Given the description of an element on the screen output the (x, y) to click on. 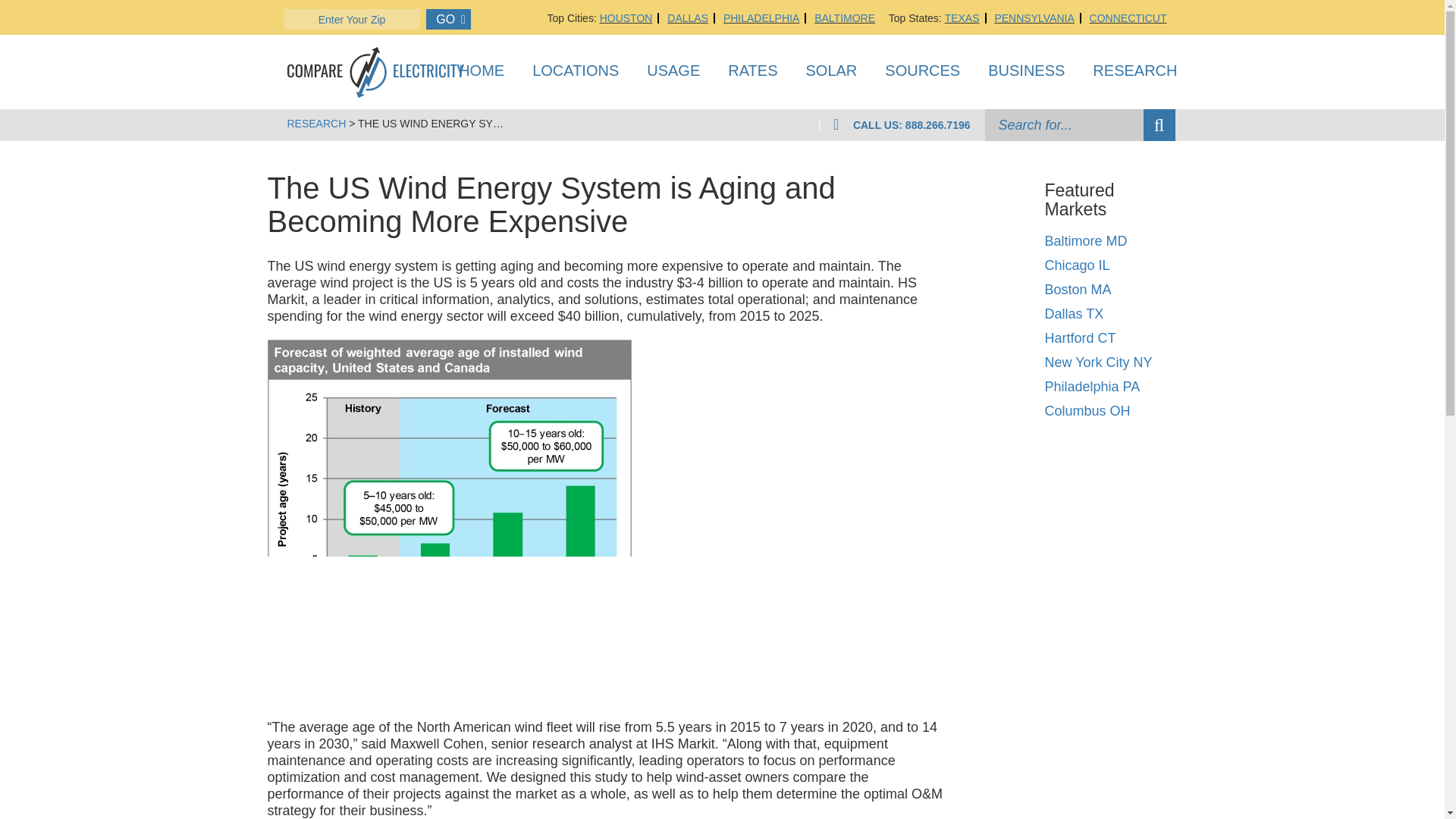
PHILADELPHIA (761, 18)
BUSINESS (1026, 73)
LOCATIONS (575, 73)
SOLAR (831, 73)
DALLAS (686, 18)
PENNSYLVANIA (1034, 18)
RESEARCH (316, 123)
Chicago IL (1076, 264)
RESEARCH (1134, 73)
Columbus OH (1086, 410)
SOURCES (922, 73)
Baltimore MD (1084, 240)
Philadelphia PA (1091, 386)
RATES (752, 73)
HOUSTON (625, 18)
